Given the description of an element on the screen output the (x, y) to click on. 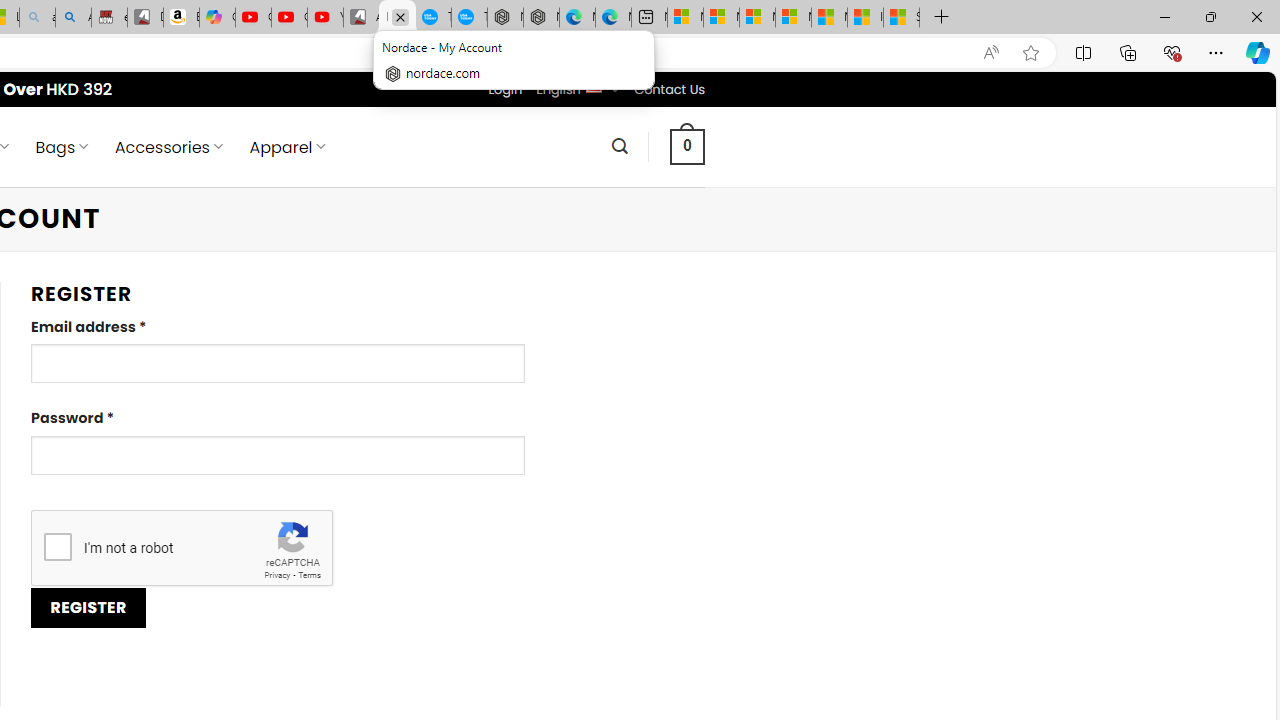
All Cubot phones (361, 17)
  0   (687, 146)
Microsoft account | Microsoft Account Privacy Settings (721, 17)
YouTube Kids - An App Created for Kids to Explore Content (325, 17)
REGISTER (88, 607)
Login (505, 89)
Contact Us (669, 89)
English (592, 86)
